Given the description of an element on the screen output the (x, y) to click on. 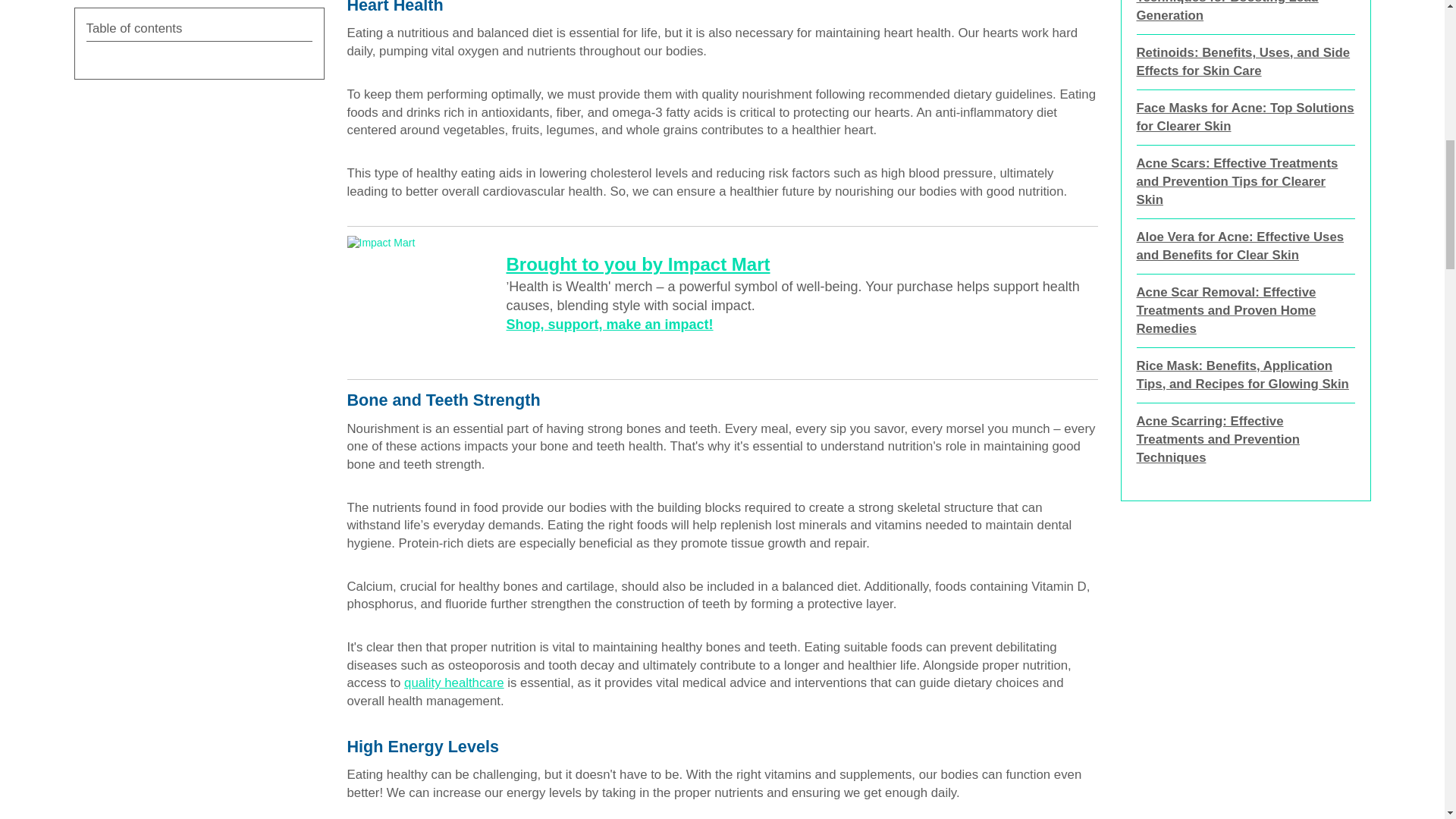
Brought to you by Impact Mart (638, 263)
quality healthcare (453, 682)
Shop, support, make an impact! (609, 324)
